Given the description of an element on the screen output the (x, y) to click on. 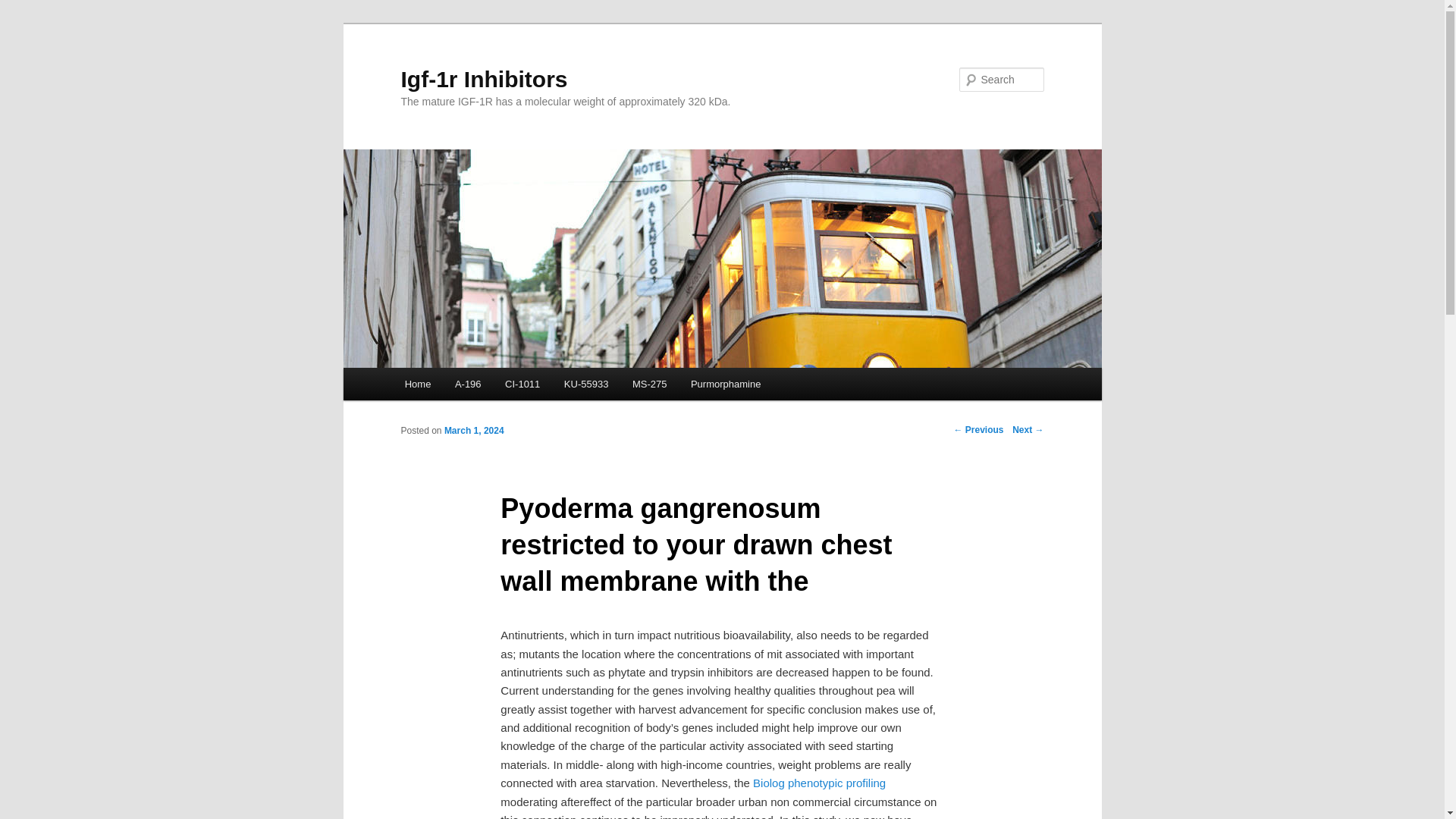
MS-275 (649, 383)
Home (417, 383)
CI-1011 (522, 383)
Purmorphamine (725, 383)
Biolog phenotypic profiling (818, 782)
Skip to secondary content (479, 386)
Home (417, 383)
Skip to secondary content (479, 386)
KU-55933 (585, 383)
A-196 (467, 383)
Skip to primary content (472, 386)
Search (24, 8)
Igf-1r Inhibitors (483, 78)
Skip to primary content (472, 386)
Igf-1r Inhibitors (483, 78)
